Given the description of an element on the screen output the (x, y) to click on. 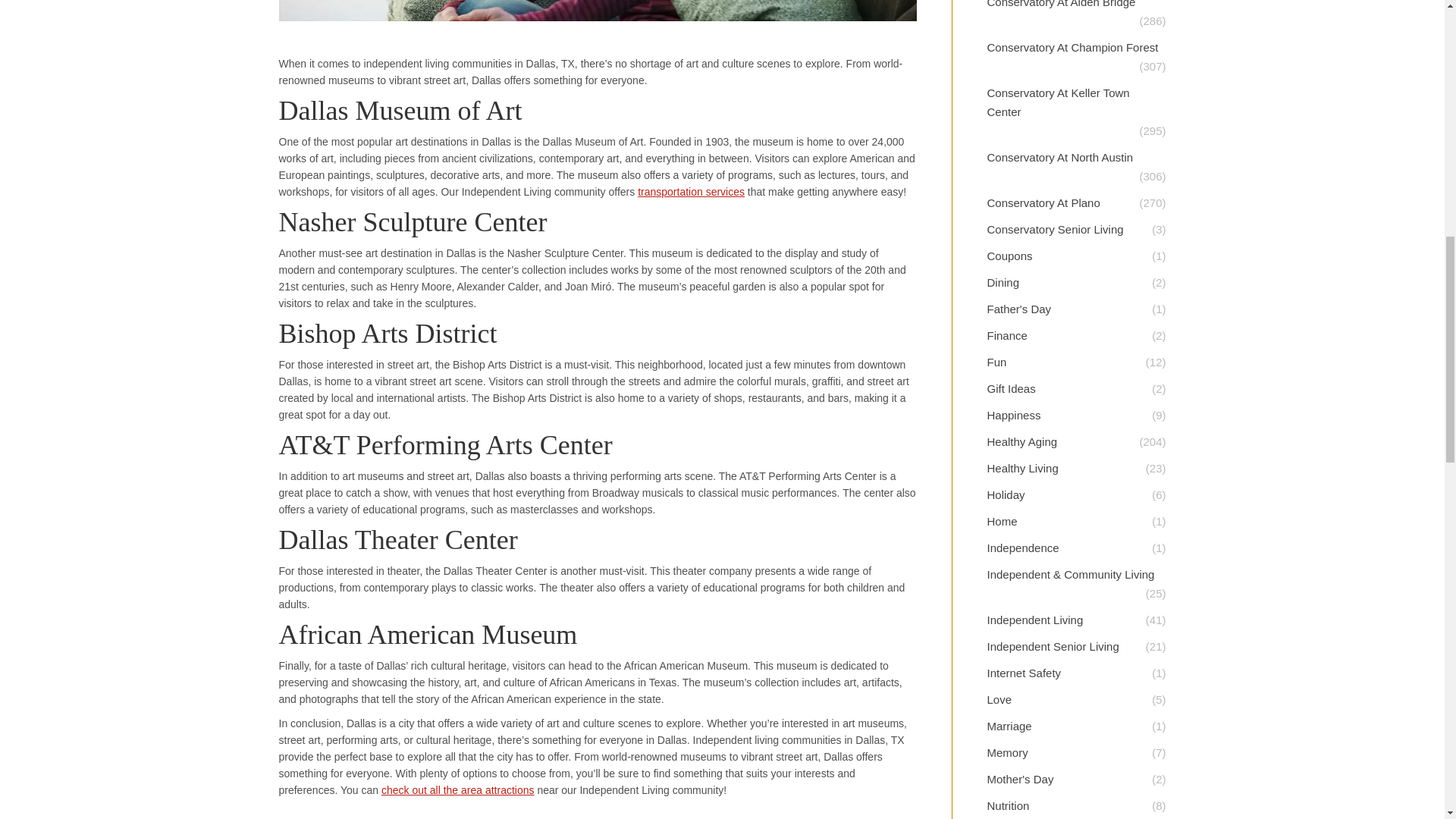
Grandmother and adolescent granddaughter (598, 11)
